Given the description of an element on the screen output the (x, y) to click on. 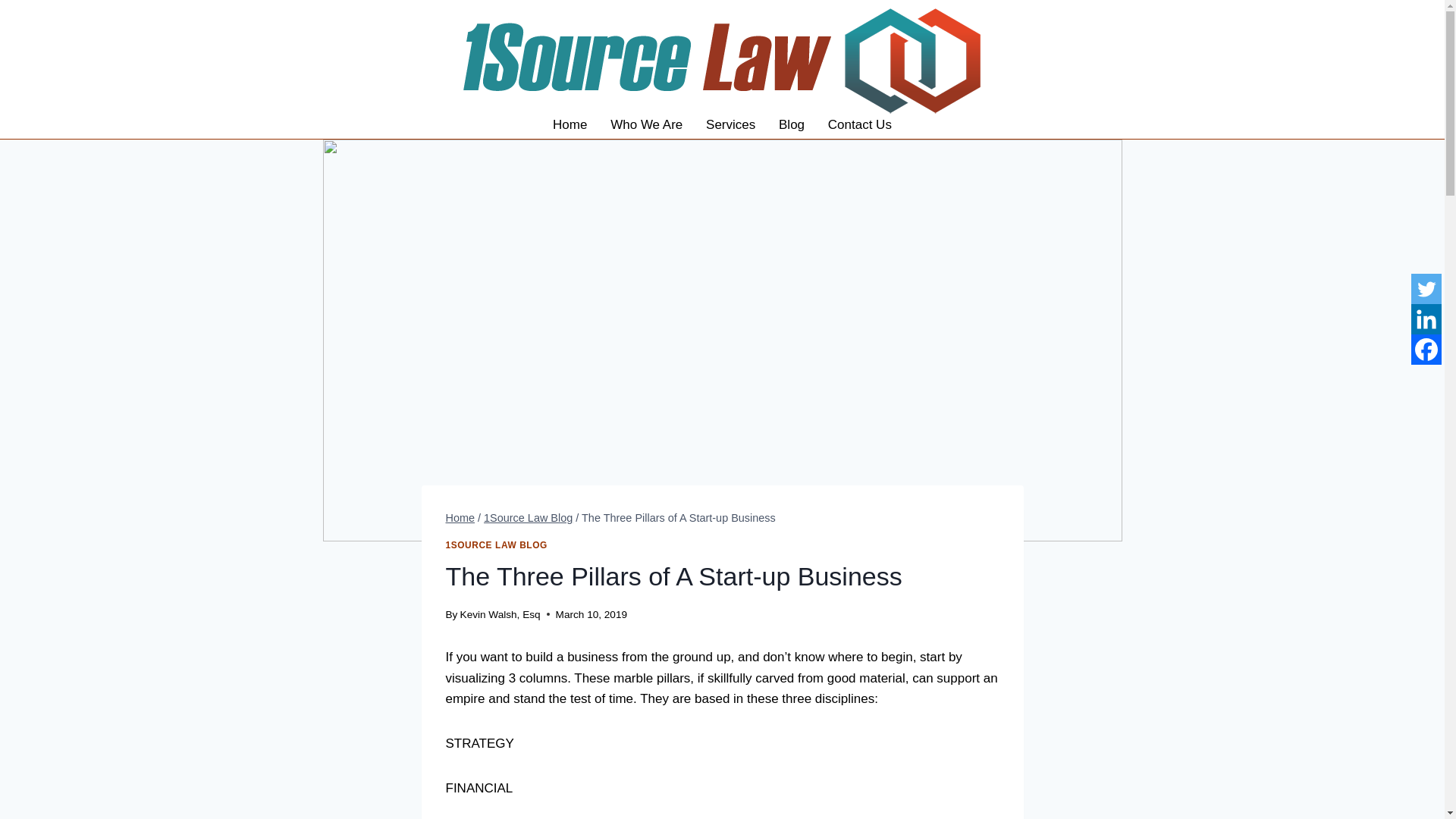
Linkedin (1425, 318)
Blog (791, 124)
Kevin Walsh, Esq (500, 614)
Home (460, 517)
Home (569, 124)
Services (730, 124)
Who We Are (646, 124)
1SOURCE LAW BLOG (496, 544)
1Source Law Blog (527, 517)
Contact Us (858, 124)
Twitter (1425, 288)
Facebook (1425, 349)
